Given the description of an element on the screen output the (x, y) to click on. 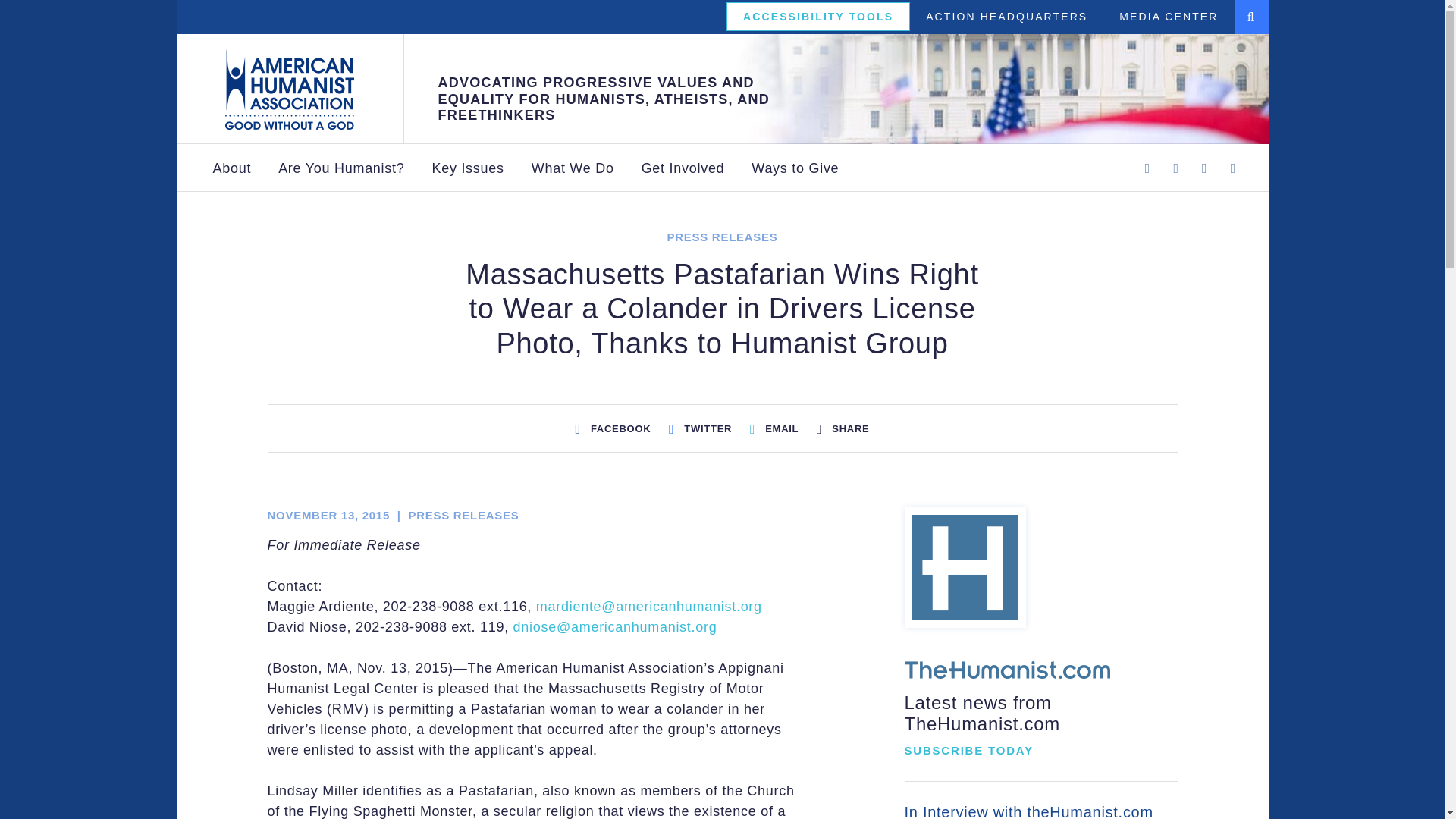
AHA on Instagram (1204, 168)
ACTION HEADQUARTERS (1006, 17)
Key Issues (466, 167)
AHA on YouTube (1233, 168)
American Humanist Association (289, 89)
ACCESSIBILITY TOOLS (817, 16)
AHA on Facebook (1147, 168)
Are You Humanist? (340, 167)
AHA on X (1175, 168)
MEDIA CENTER (1168, 17)
About (231, 167)
